Given the description of an element on the screen output the (x, y) to click on. 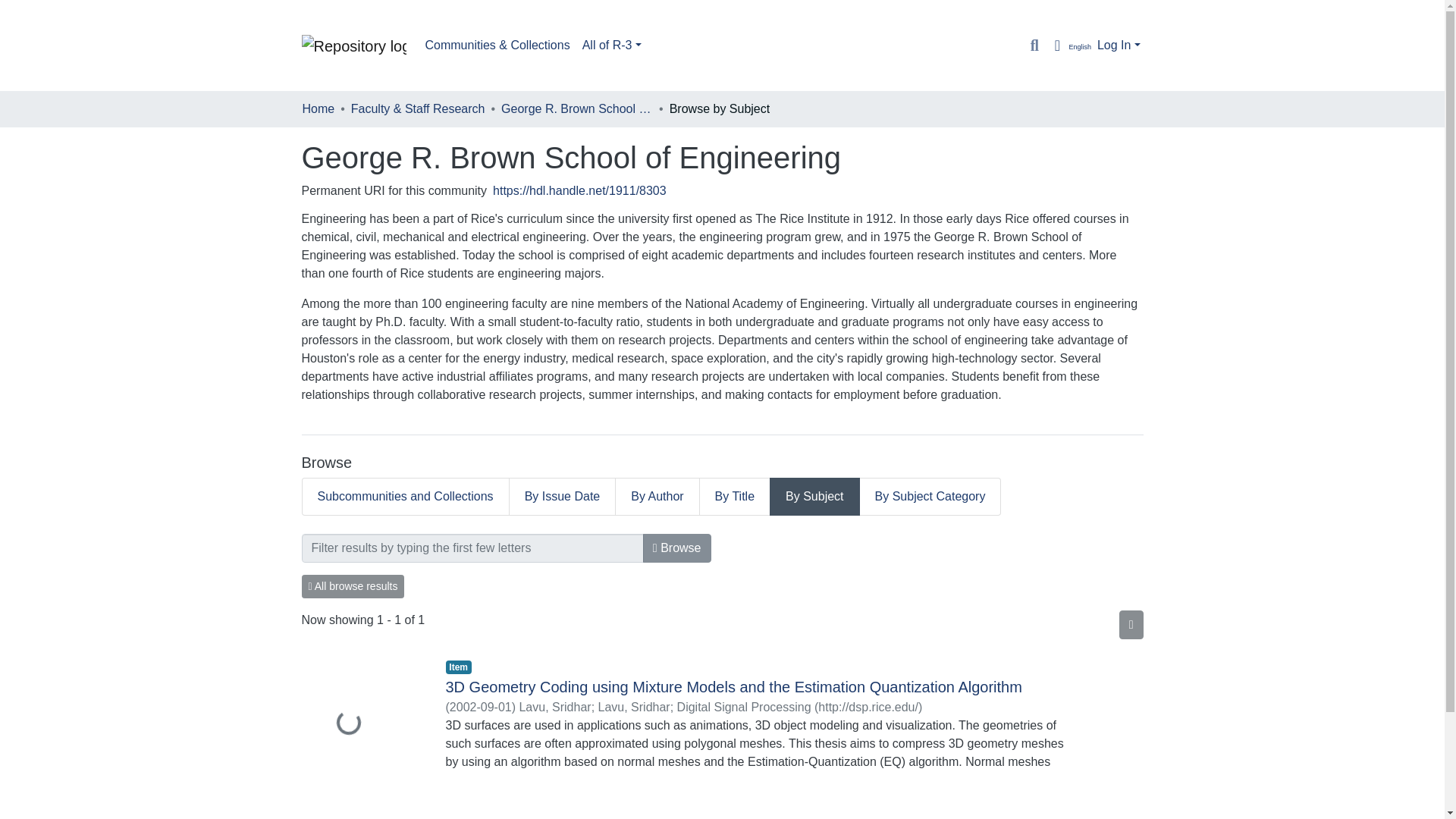
By Subject (814, 496)
Log In (1118, 44)
Home (317, 108)
Subcommunities and Collections (405, 496)
Loading... (362, 724)
Language switch (1069, 45)
By Author (656, 496)
Search (1035, 45)
All of R-3 (611, 45)
Browse (677, 547)
George R. Brown School of Engineering (576, 108)
By Title (735, 496)
All browse results (352, 586)
English (1069, 45)
By Issue Date (562, 496)
